Given the description of an element on the screen output the (x, y) to click on. 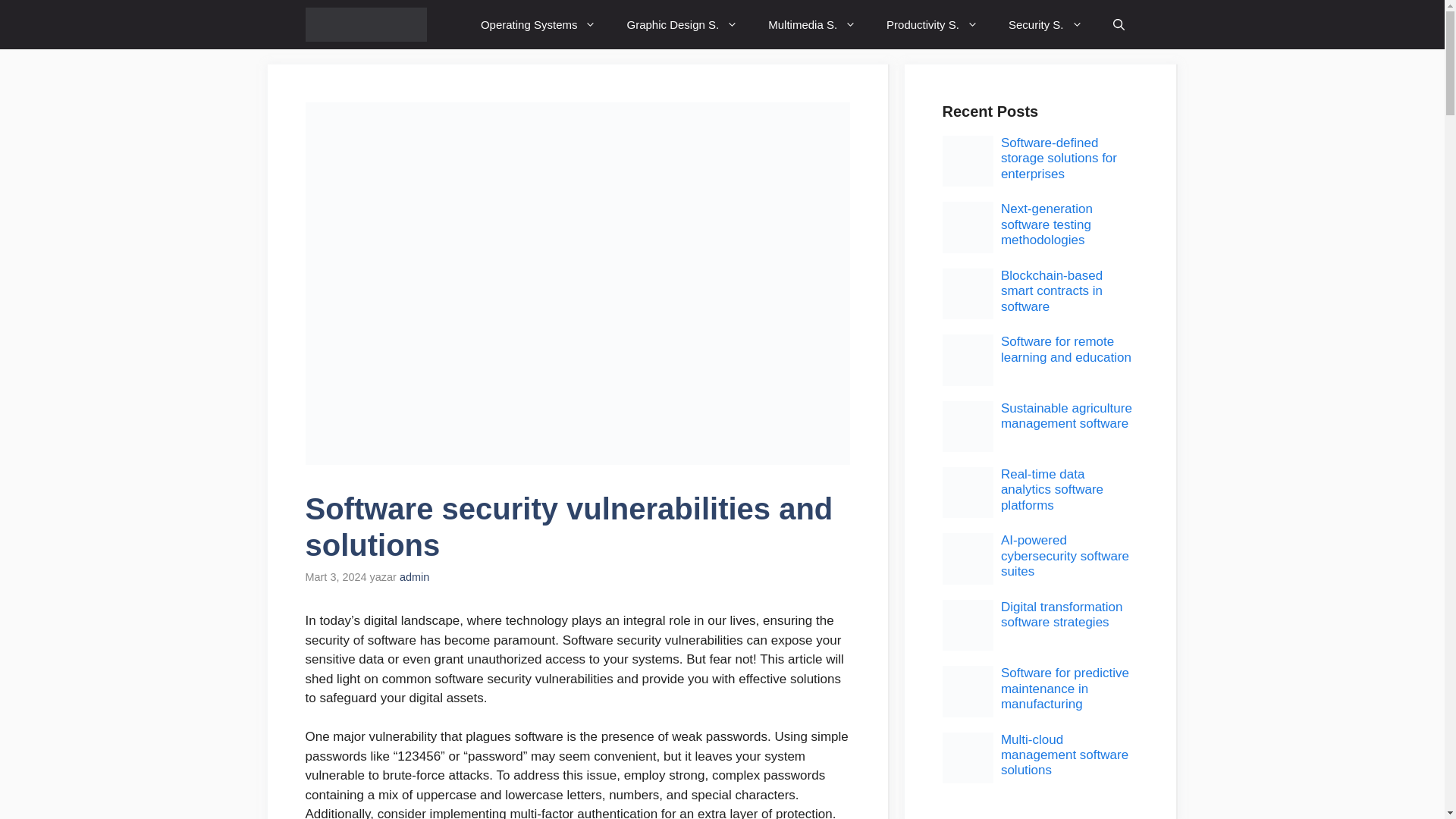
Security S. (1044, 24)
Multimedia S. (811, 24)
Operating Systems (538, 24)
Graphic Design S. (681, 24)
Productivity S. (931, 24)
admin (413, 576)
